Given the description of an element on the screen output the (x, y) to click on. 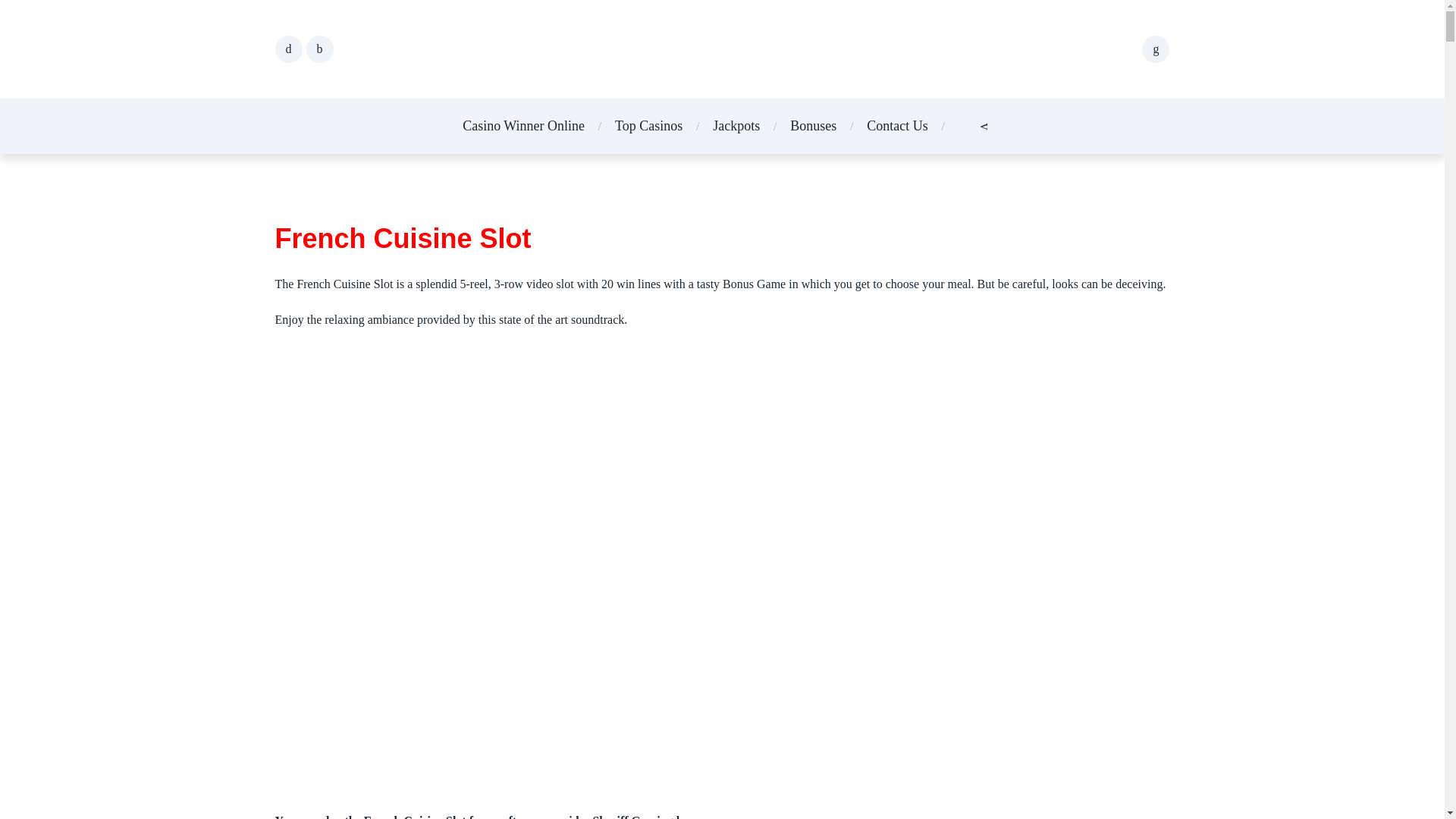
Casino Winner Online (524, 100)
Contact Us (897, 100)
Bonuses (812, 100)
Top Casinos (648, 100)
Jackpots (736, 100)
